Given the description of an element on the screen output the (x, y) to click on. 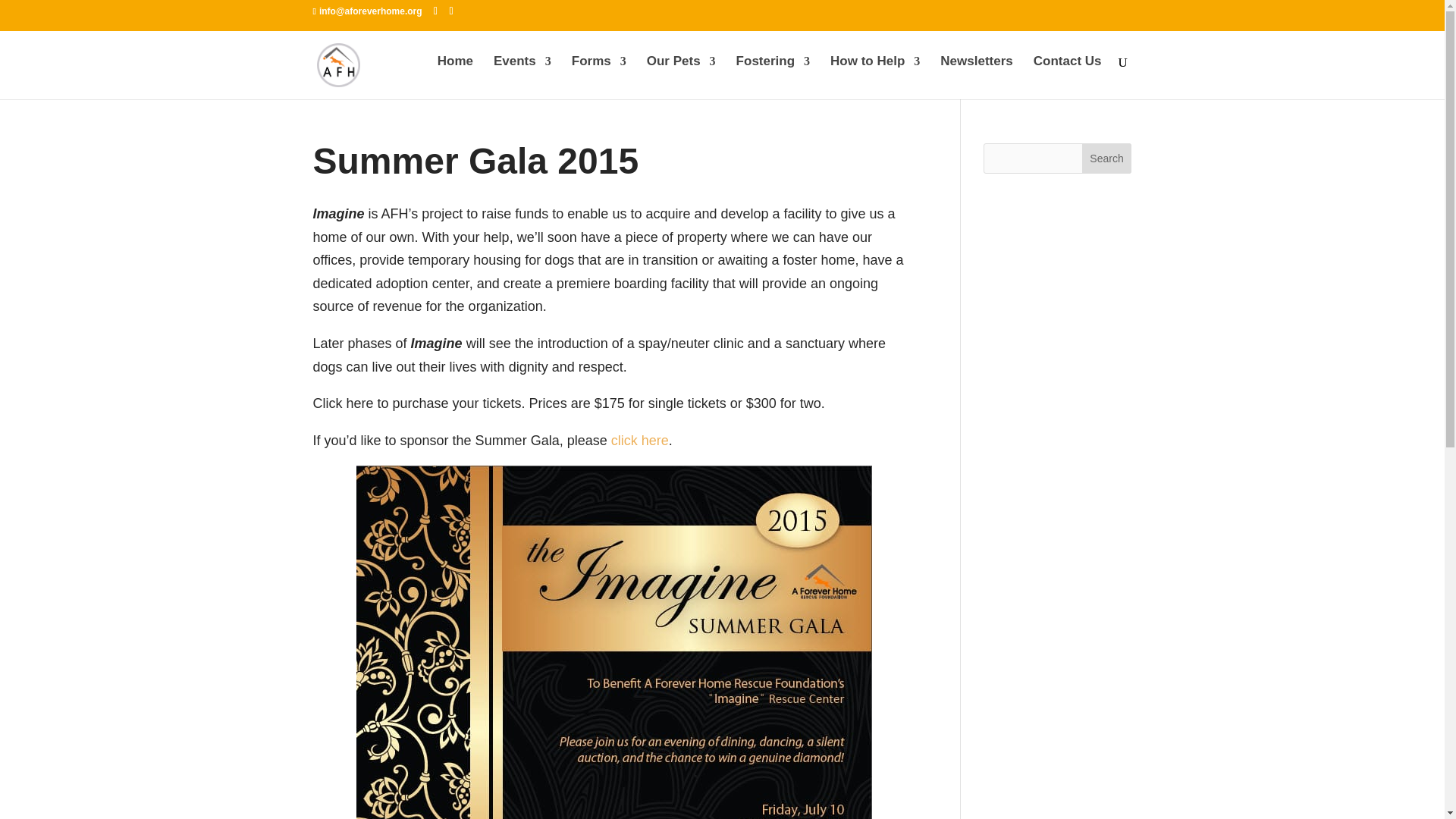
Home (455, 73)
Contact Us (1067, 73)
Newsletters (975, 73)
Our Pets (681, 73)
How to Help (874, 73)
Events (522, 73)
Fostering (772, 73)
Forms (599, 73)
